Given the description of an element on the screen output the (x, y) to click on. 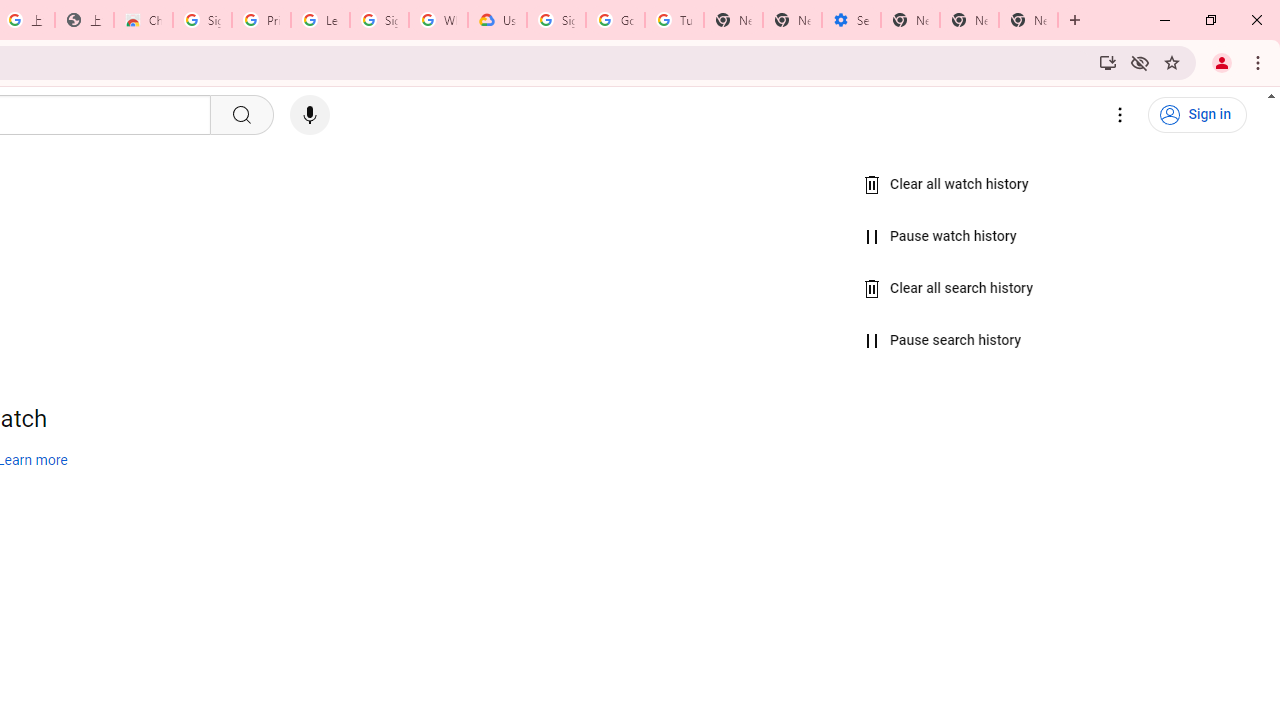
New Tab (909, 20)
Sign in (1197, 115)
Pause search history (942, 341)
Turn cookies on or off - Computer - Google Account Help (674, 20)
Sign in - Google Accounts (379, 20)
Google Account Help (615, 20)
Chrome Web Store (142, 20)
Search with your voice (309, 115)
Pause watch history (940, 236)
Search (240, 115)
New Tab (1028, 20)
Who are Google's partners? - Privacy and conditions - Google (438, 20)
